Given the description of an element on the screen output the (x, y) to click on. 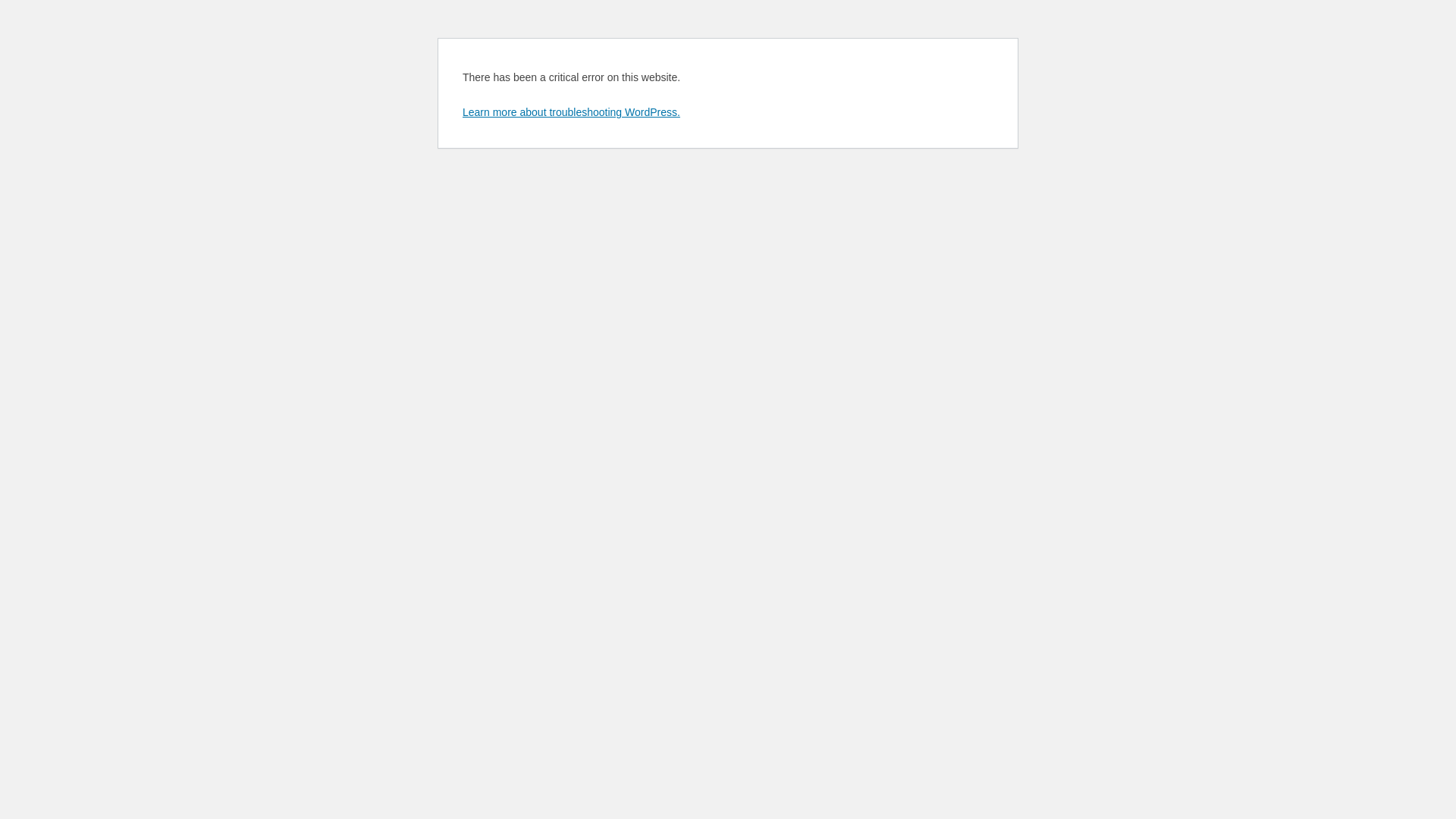
Learn more about troubleshooting WordPress. Element type: text (571, 112)
